Given the description of an element on the screen output the (x, y) to click on. 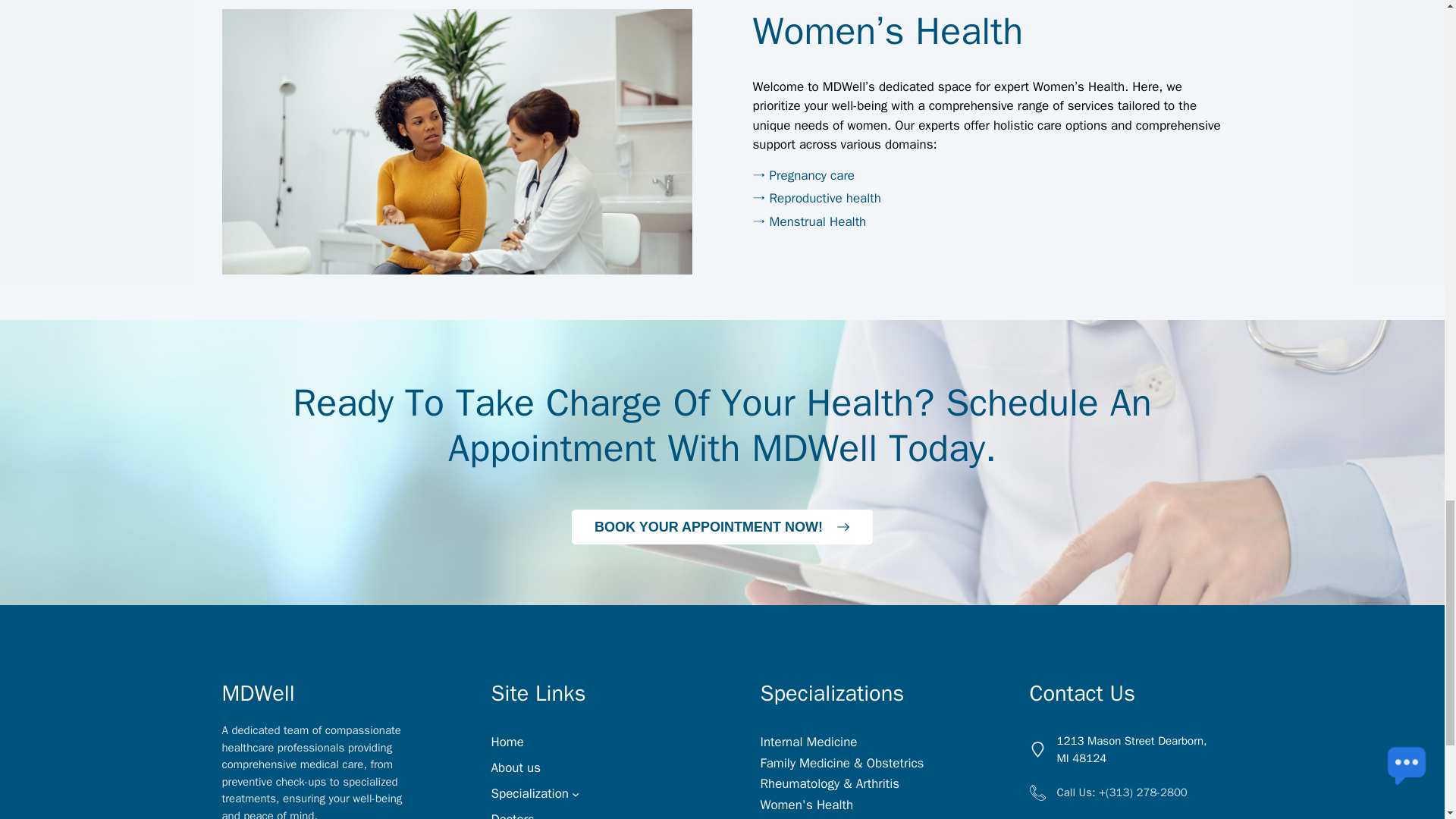
BOOK YOUR APPOINTMENT NOW! (722, 526)
Untitled-design-2023-11-22T220934.094 (456, 141)
